Given the description of an element on the screen output the (x, y) to click on. 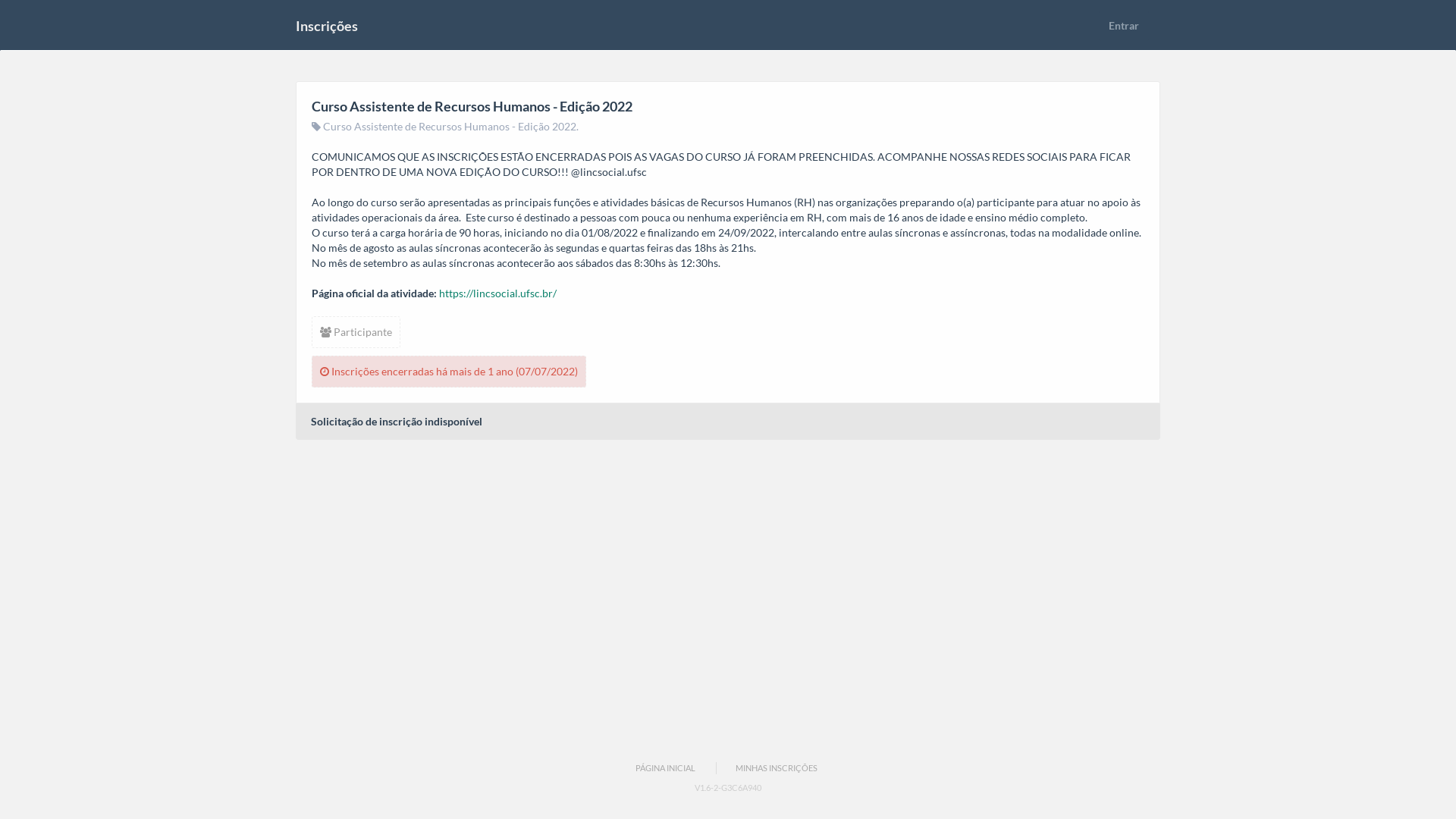
Entrar Element type: text (1123, 25)
https://lincsocial.ufsc.br/ Element type: text (497, 292)
